Given the description of an element on the screen output the (x, y) to click on. 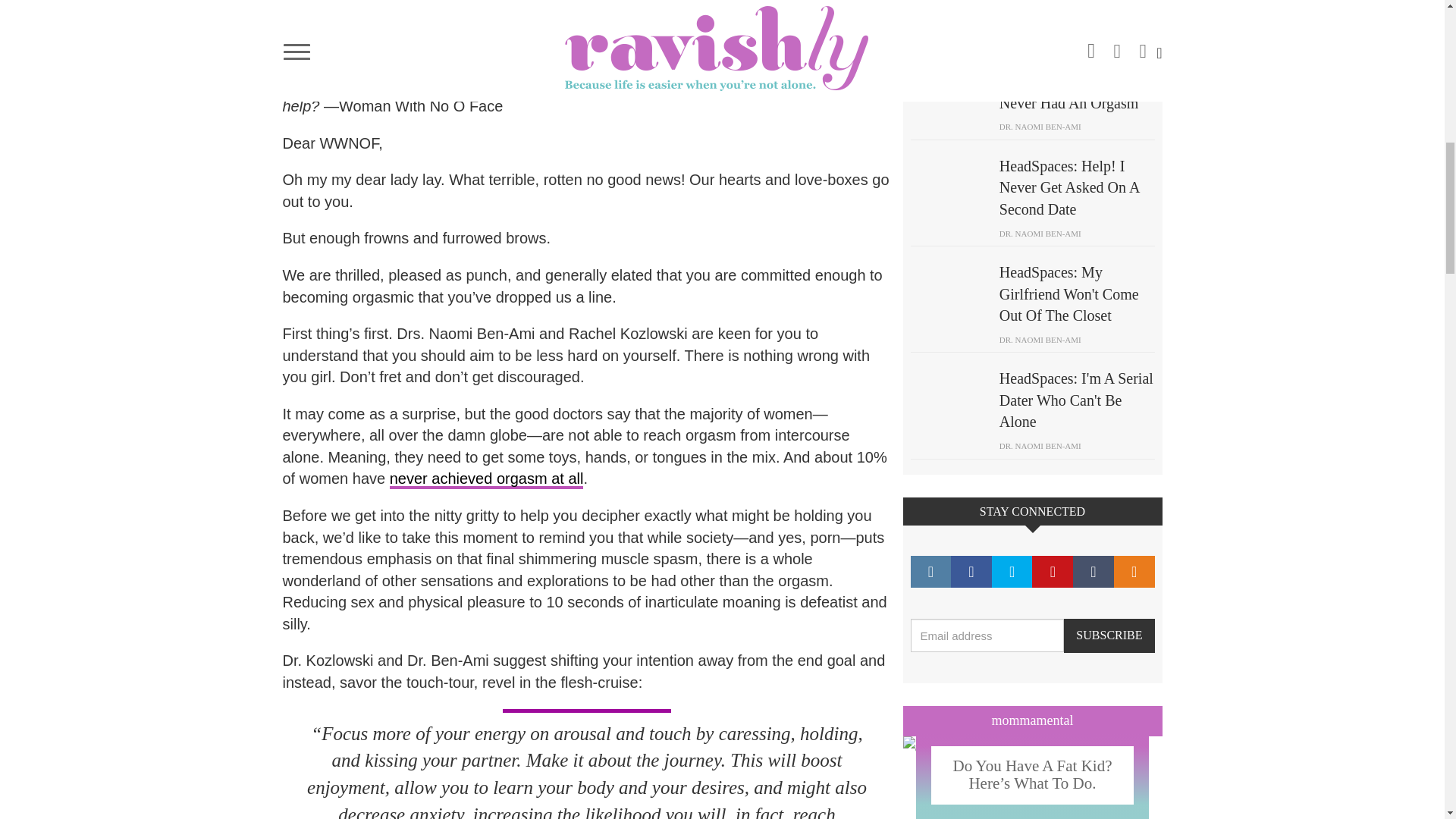
Credit: Thinkstock (947, 20)
SUBSCRIBE (1109, 635)
instagram (930, 572)
